Given the description of an element on the screen output the (x, y) to click on. 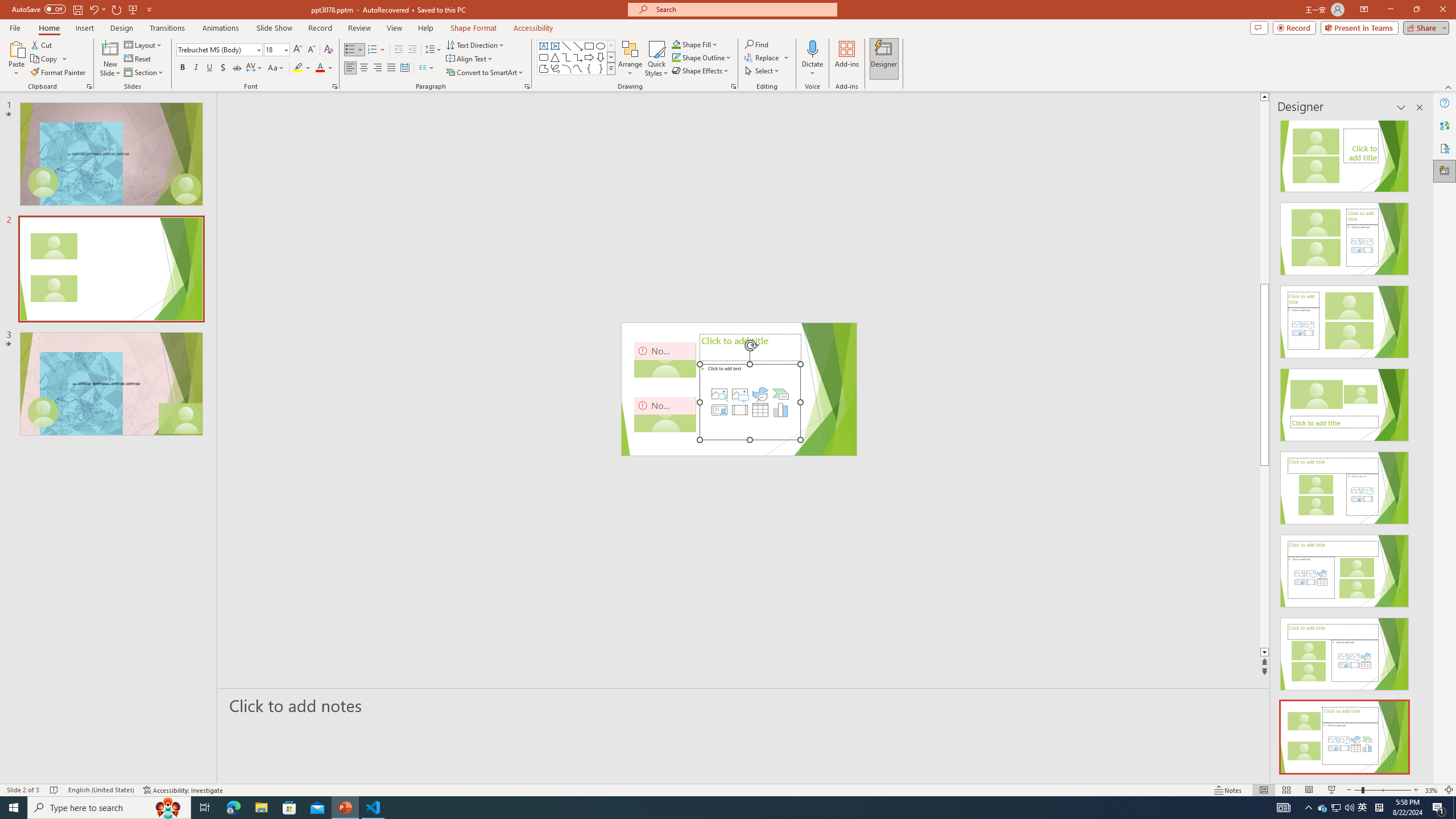
Recommended Design: Design Idea (1344, 152)
